Given the description of an element on the screen output the (x, y) to click on. 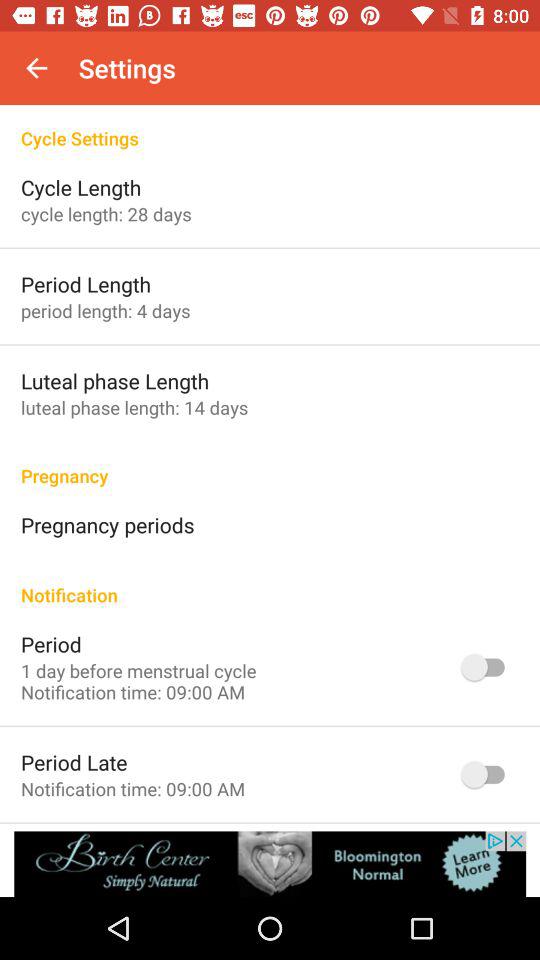
advertising page (270, 864)
